Given the description of an element on the screen output the (x, y) to click on. 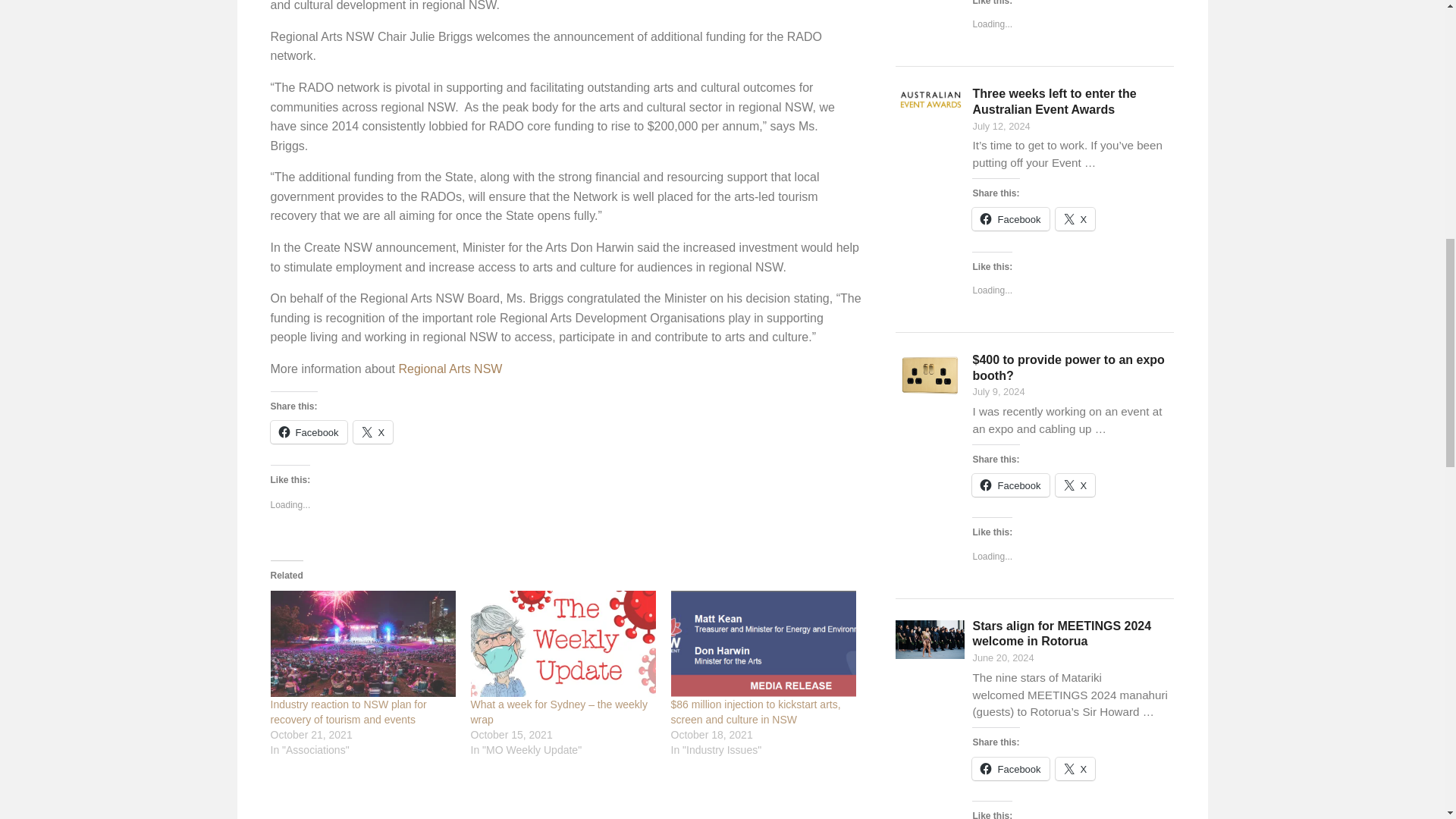
Regional Arts NSW (449, 368)
Facebook (307, 431)
X (373, 431)
Click to share on Facebook (307, 431)
Click to share on X (373, 431)
